Given the description of an element on the screen output the (x, y) to click on. 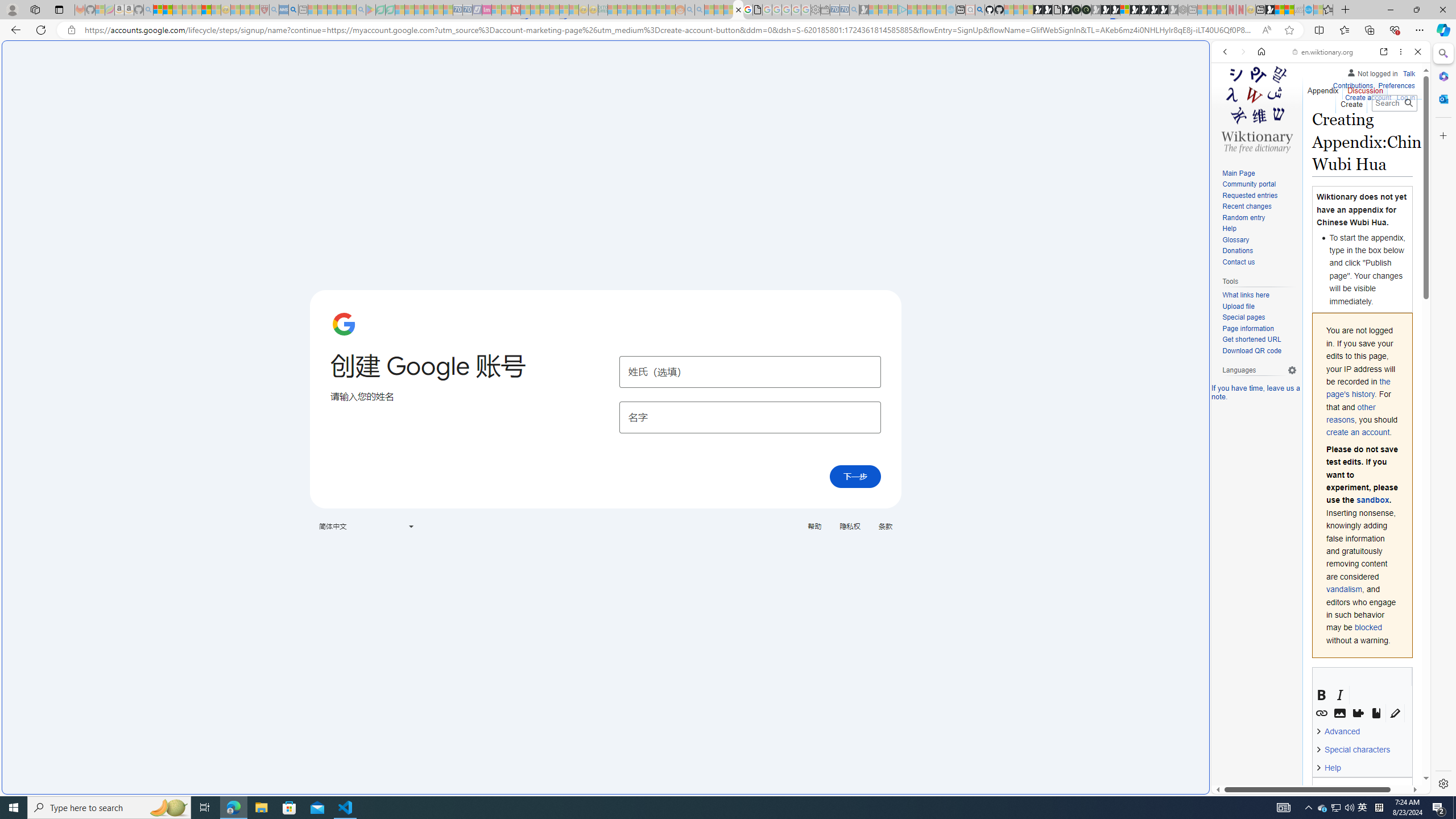
Requested entries (1249, 194)
If you have time, leave us a note. (1255, 392)
Recent changes (1259, 206)
Earth has six continents not seven, radical new study claims (1288, 9)
